Given the description of an element on the screen output the (x, y) to click on. 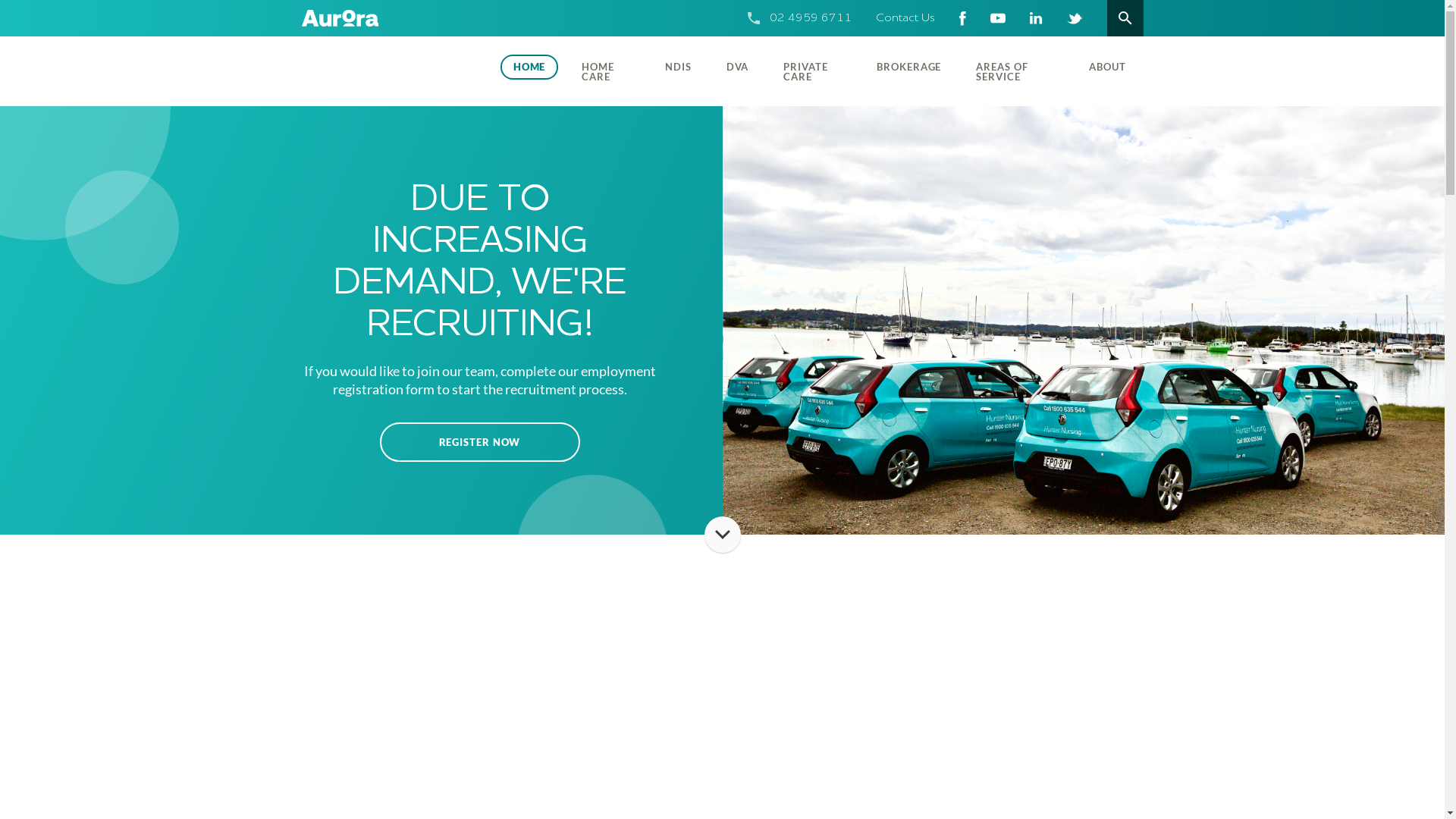
Skip to main content Element type: text (0, 0)
HOME
(CURRENT) Element type: text (529, 66)
Facebook page - healthecommunity1 Element type: text (961, 17)
Contact Us Element type: text (904, 18)
HOME CARE Element type: text (605, 71)
DVA Element type: text (737, 66)
02 4959 6711 Element type: text (809, 18)
AREAS OF SERVICE Element type: text (1014, 71)
LinkedIn - 74750267 Element type: text (1035, 18)
youTube channel page - UCmlIpi6FoZz6aSYolo2XFZA Element type: text (997, 17)
Aurora Community Element type: text (391, 71)
BROKERAGE Element type: text (908, 66)
REGISTER NOW Element type: text (479, 441)
Twitter - HealtheCareAust Element type: text (1074, 17)
SCROLL TO MAIN CONTENT Element type: text (721, 534)
NDIS Element type: text (678, 66)
PRIVATE CARE Element type: text (812, 71)
ABOUT Element type: text (1107, 66)
